Given the description of an element on the screen output the (x, y) to click on. 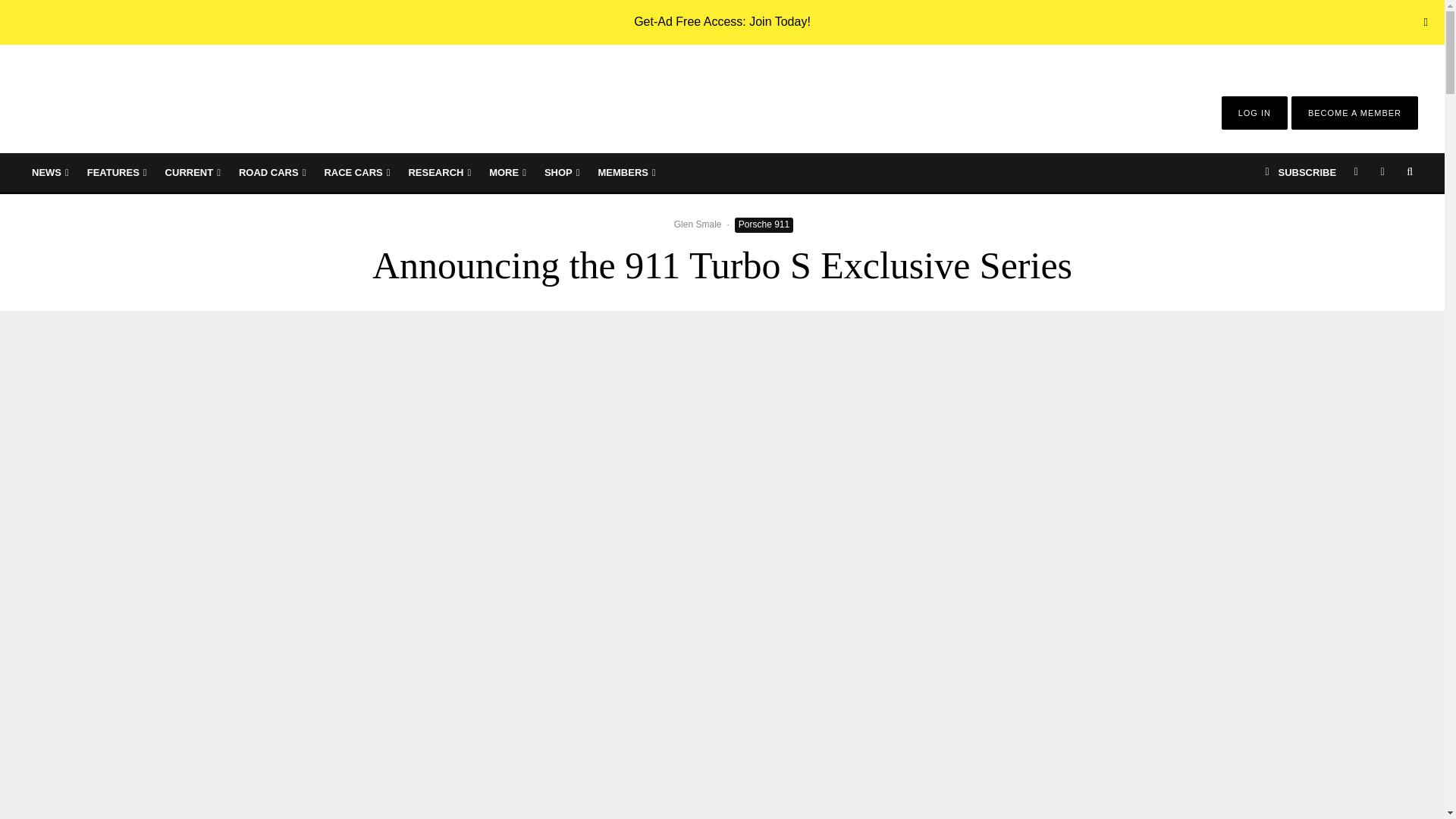
BECOME A MEMBER (1353, 112)
Get-Ad Free Access: Join Today! (721, 21)
ROAD CARS (272, 172)
LOG IN (1255, 112)
CURRENT (192, 172)
Get-Ad Free Access: Join Today! (721, 21)
NEWS (50, 172)
FEATURES (116, 172)
